Given the description of an element on the screen output the (x, y) to click on. 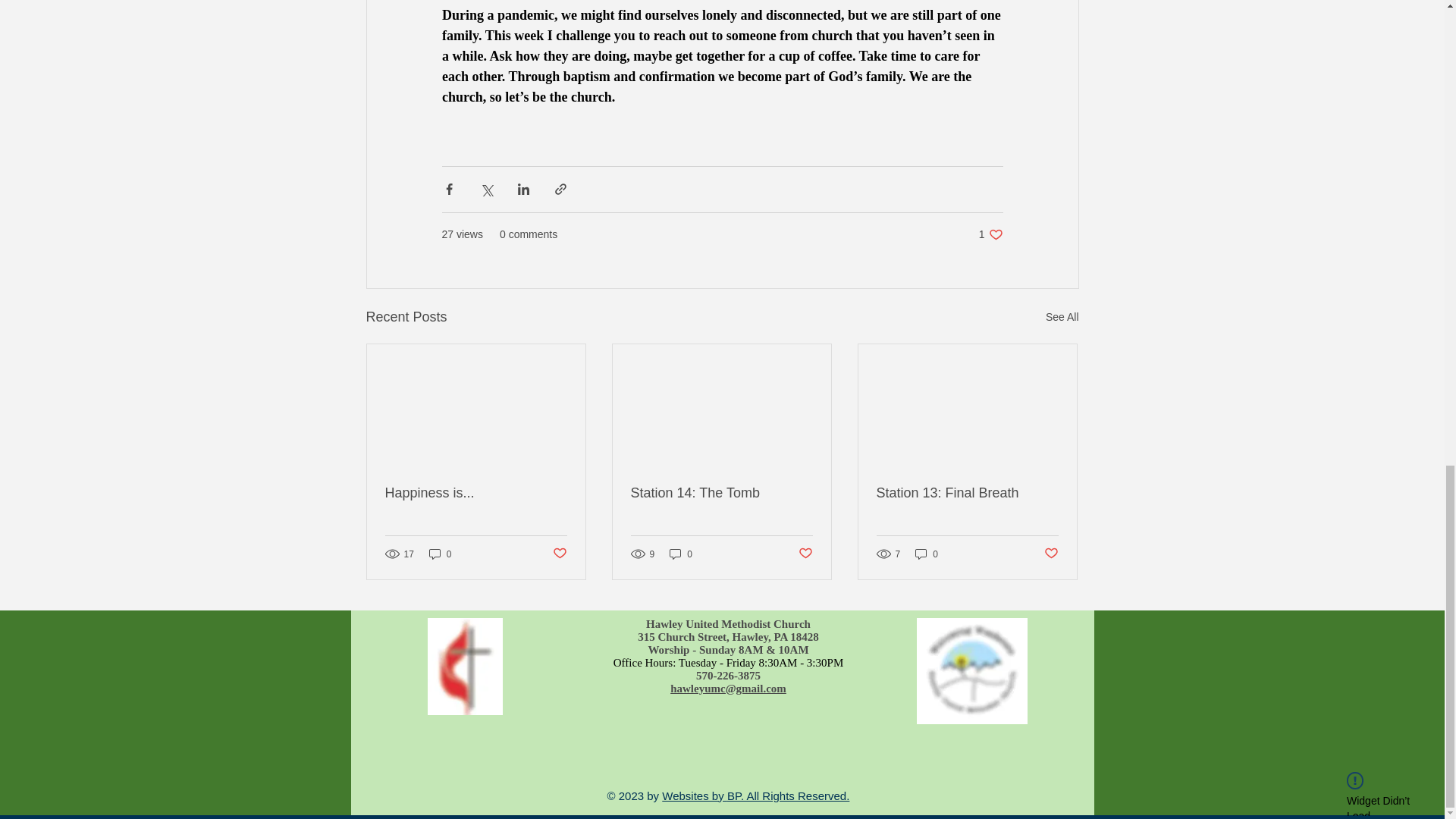
See All (1061, 317)
Post not marked as liked (558, 553)
0 (681, 554)
0 (440, 554)
Station 13: Final Breath (967, 493)
Happiness is... (990, 234)
Post not marked as liked (476, 493)
Post not marked as liked (1050, 553)
Station 14: The Tomb (804, 553)
0 (721, 493)
